Given the description of an element on the screen output the (x, y) to click on. 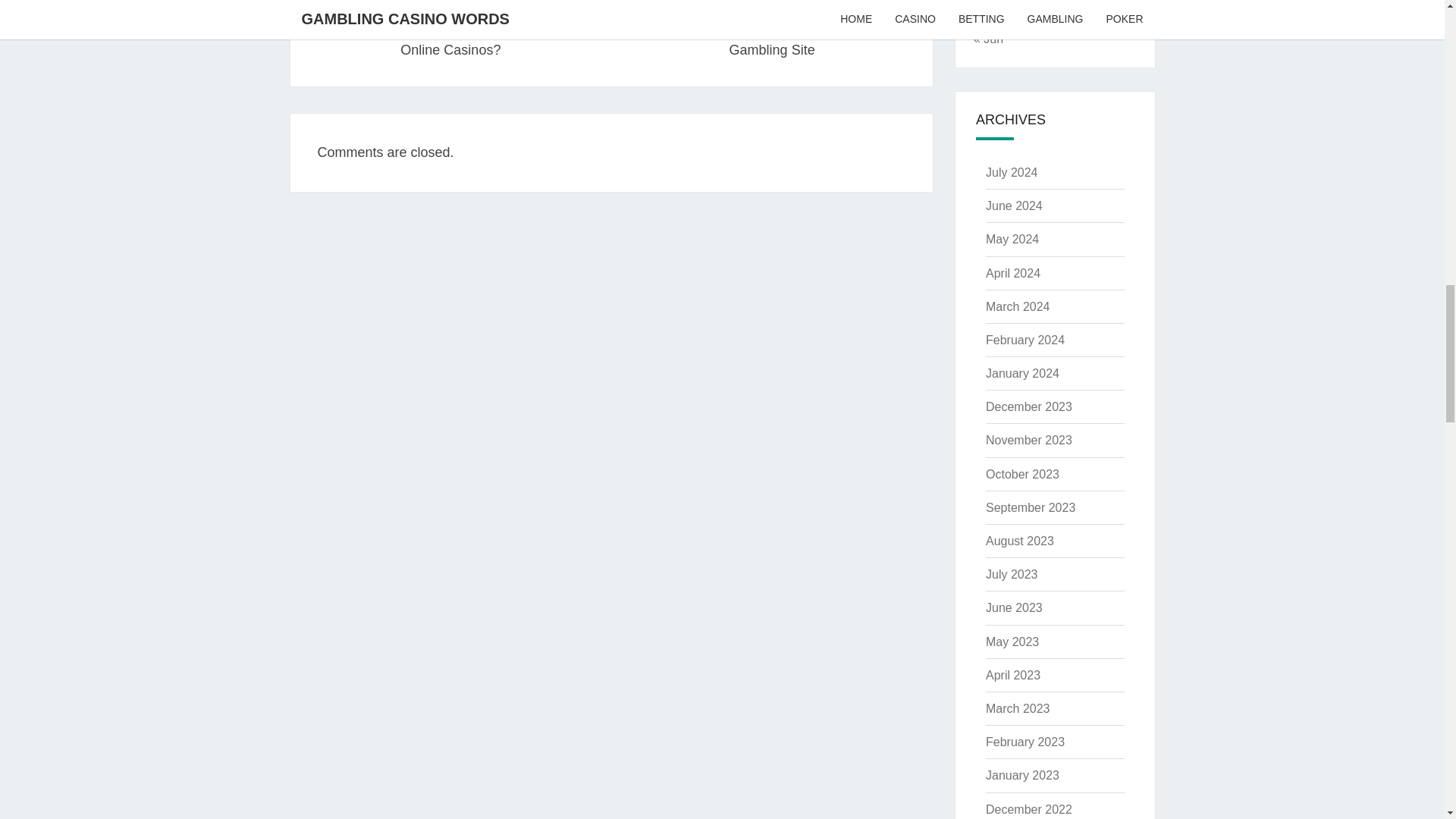
February 2024 (1024, 339)
December 2023 (1028, 406)
July 2024 (1011, 172)
January 2024 (1022, 373)
March 2024 (771, 28)
April 2024 (1017, 306)
October 2023 (1013, 273)
November 2023 (1022, 473)
June 2024 (1028, 440)
May 2024 (1013, 205)
